Given the description of an element on the screen output the (x, y) to click on. 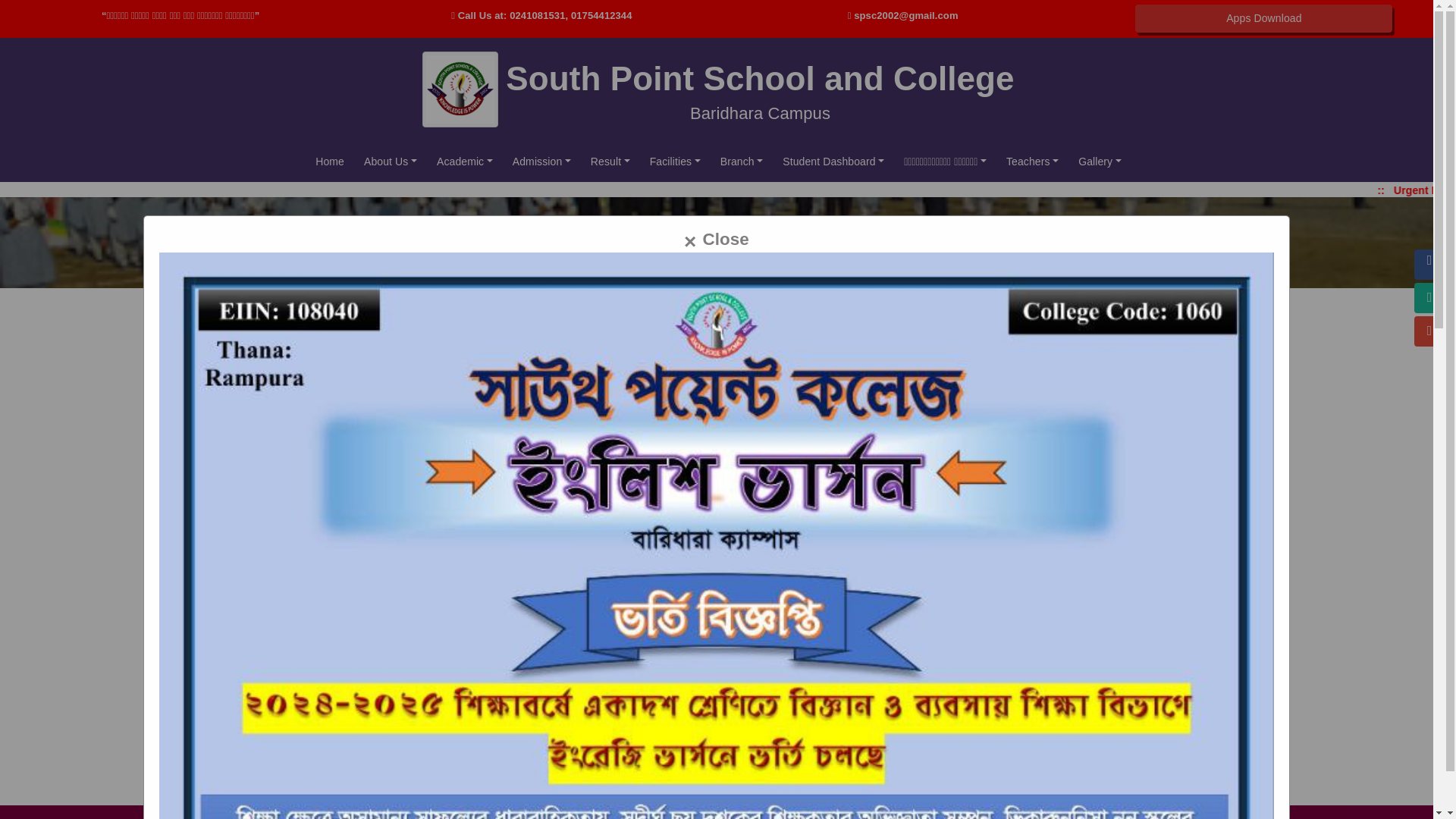
Facilities (674, 161)
Academic (464, 161)
Student Dashboard (832, 161)
Branch (742, 161)
Result (610, 161)
About Us (390, 161)
Apps Download (1263, 18)
Teachers (1032, 161)
Admission (541, 161)
0241081531, 01754412344 (570, 15)
